Given the description of an element on the screen output the (x, y) to click on. 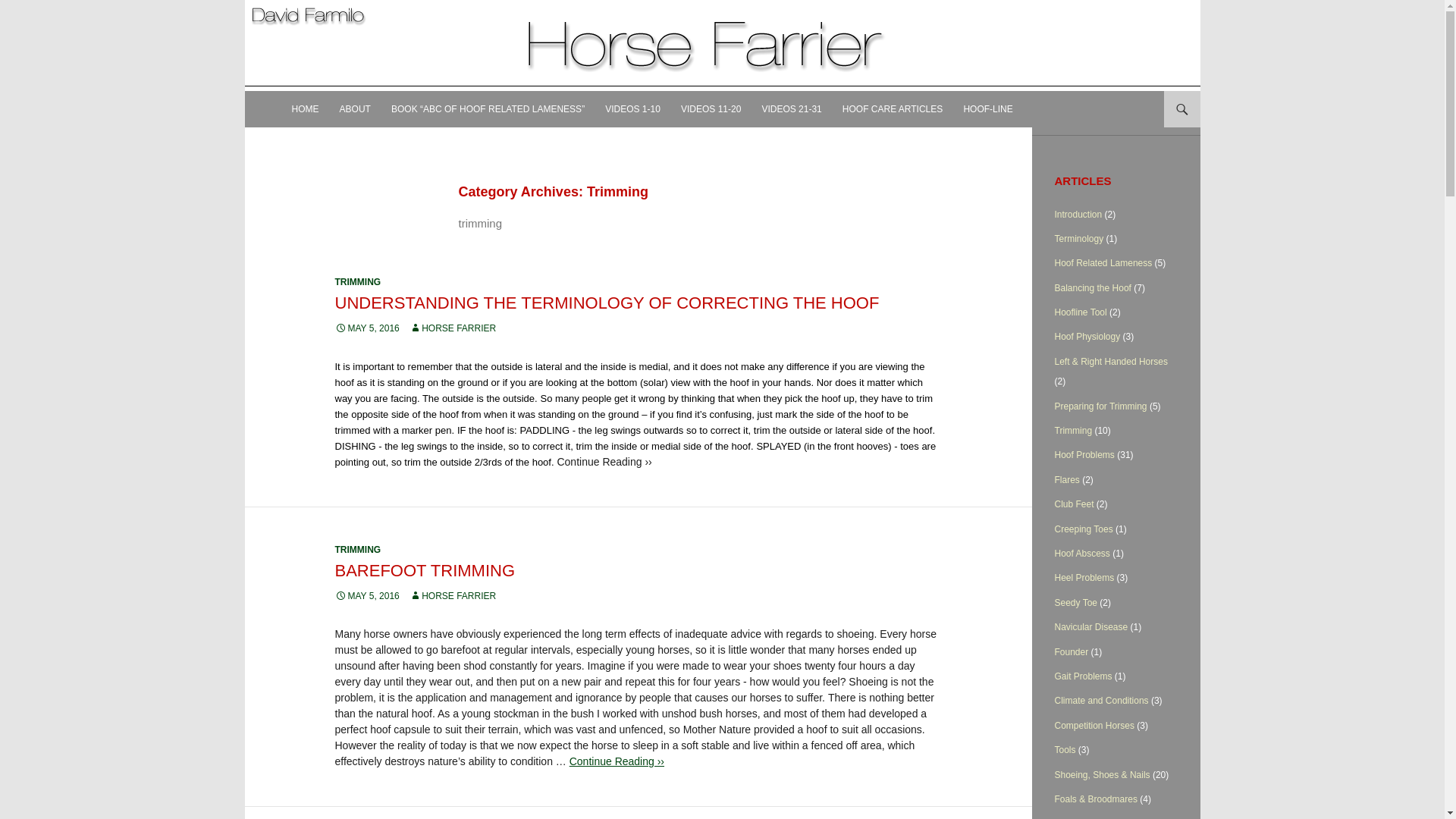
Hoof Related Lameness Element type: text (1102, 262)
Preparing for Trimming Element type: text (1100, 406)
HORSE FARRIER Element type: text (452, 595)
Competition Horses Element type: text (1093, 725)
Seedy Toe Element type: text (1075, 602)
Foals & Broodmares Element type: text (1095, 798)
Search Element type: text (247, 90)
Terminology Element type: text (1078, 238)
HORSE FARRIER Element type: text (452, 328)
Left & Right Handed Horses Element type: text (1110, 361)
Hoof Physiology Element type: text (1087, 336)
Gait Problems Element type: text (1082, 676)
Trimming Element type: text (1073, 430)
SKIP TO CONTENT Element type: text (291, 90)
Hoof Problems Element type: text (1083, 454)
David Farmilo Element type: text (301, 109)
Shoeing, Shoes & Nails Element type: text (1101, 774)
MAY 5, 2016 Element type: text (367, 328)
Flares Element type: text (1066, 479)
Introduction Element type: text (1077, 214)
HOOF CARE ARTICLES Element type: text (892, 109)
BAREFOOT TRIMMING Element type: text (425, 570)
Hoof Abscess Element type: text (1081, 553)
HOOF-LINE Element type: text (987, 109)
ABOUT Element type: text (354, 109)
UNDERSTANDING THE TERMINOLOGY OF CORRECTING THE HOOF Element type: text (607, 302)
HOME Element type: text (304, 109)
TRIMMING Element type: text (358, 549)
Balancing the Hoof Element type: text (1092, 287)
Climate and Conditions Element type: text (1101, 700)
VIDEOS 11-20 Element type: text (710, 109)
VIDEOS 21-31 Element type: text (791, 109)
Navicular Disease Element type: text (1090, 626)
TRIMMING Element type: text (358, 281)
Heel Problems Element type: text (1083, 577)
MAY 5, 2016 Element type: text (367, 595)
Tools Element type: text (1064, 749)
Hoofline Tool Element type: text (1080, 312)
VIDEOS 1-10 Element type: text (632, 109)
Club Feet Element type: text (1073, 503)
Founder Element type: text (1071, 651)
Creeping Toes Element type: text (1083, 529)
